Given the description of an element on the screen output the (x, y) to click on. 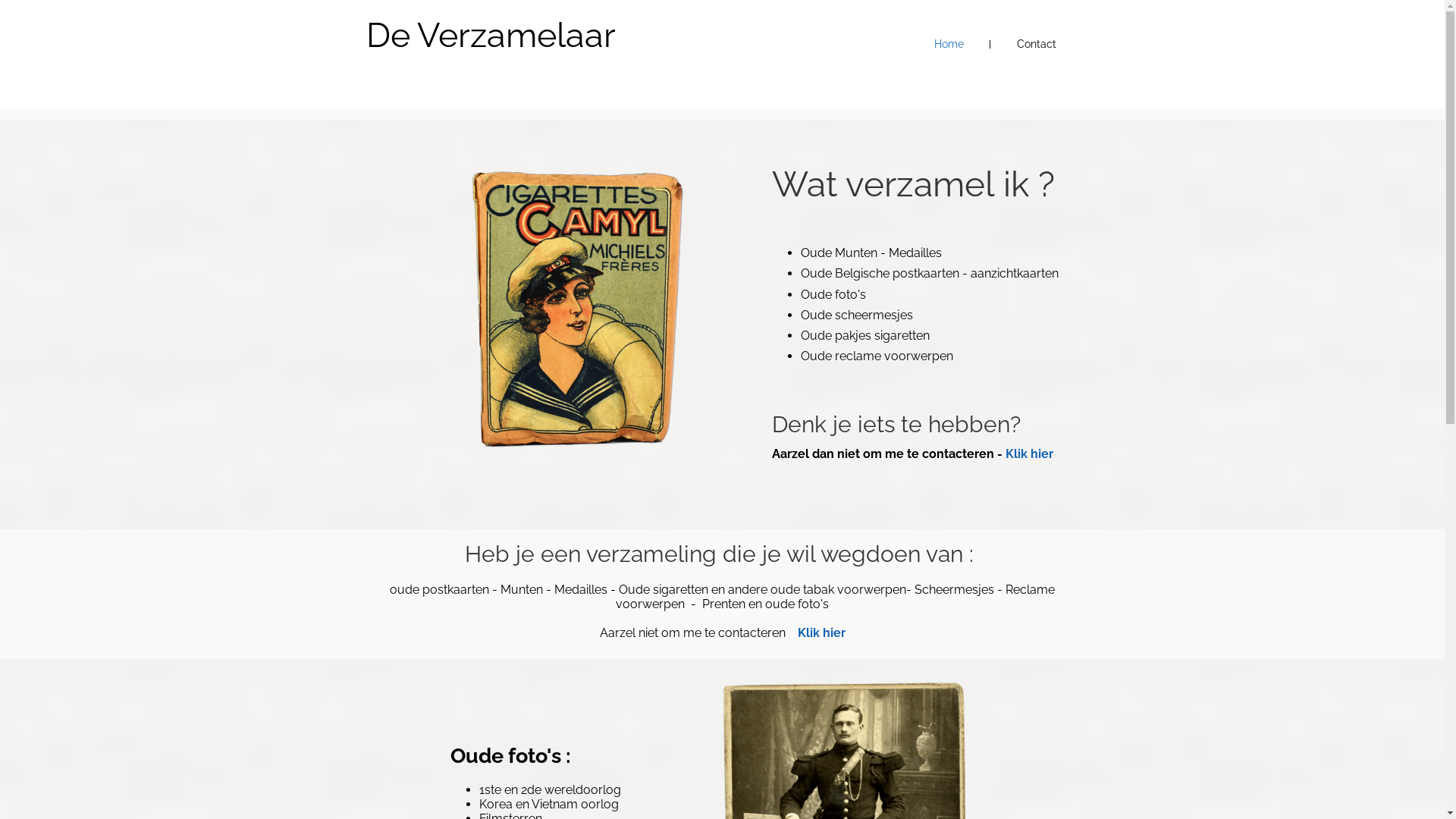
camyl-sigaretten-cigarettes Element type: hover (577, 307)
Klik hier Element type: text (821, 632)
Klik hier Element type: text (1029, 453)
Home Element type: text (948, 44)
Contact Element type: text (1035, 44)
